Given the description of an element on the screen output the (x, y) to click on. 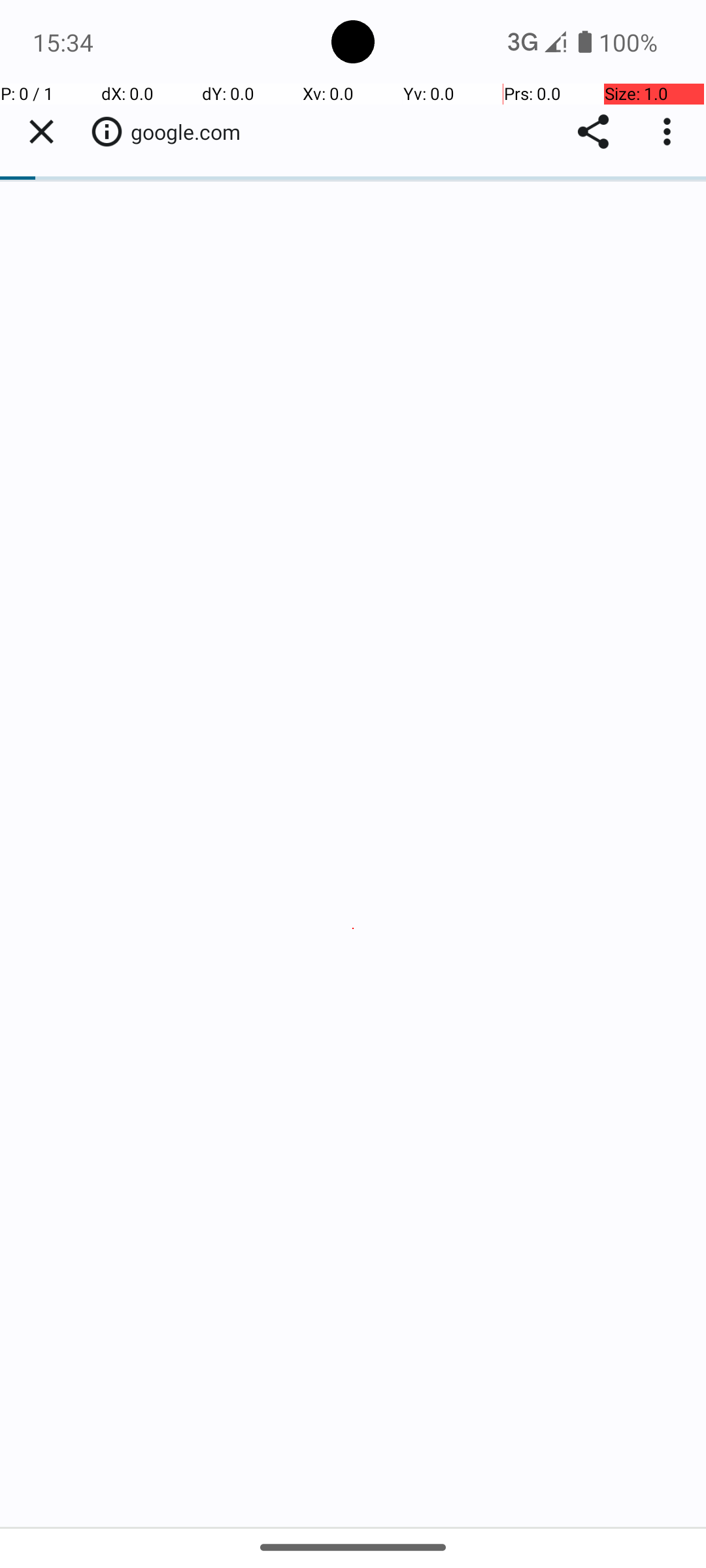
Web View Element type: android.widget.FrameLayout (353, 804)
Close tab Element type: android.widget.ImageButton (41, 131)
Your connection to this site is not secure Element type: android.widget.ImageButton (106, 131)
Share Element type: android.widget.ImageButton (593, 131)
More options Element type: android.widget.ImageButton (670, 131)
google.com Element type: android.widget.TextView (192, 131)
